Given the description of an element on the screen output the (x, y) to click on. 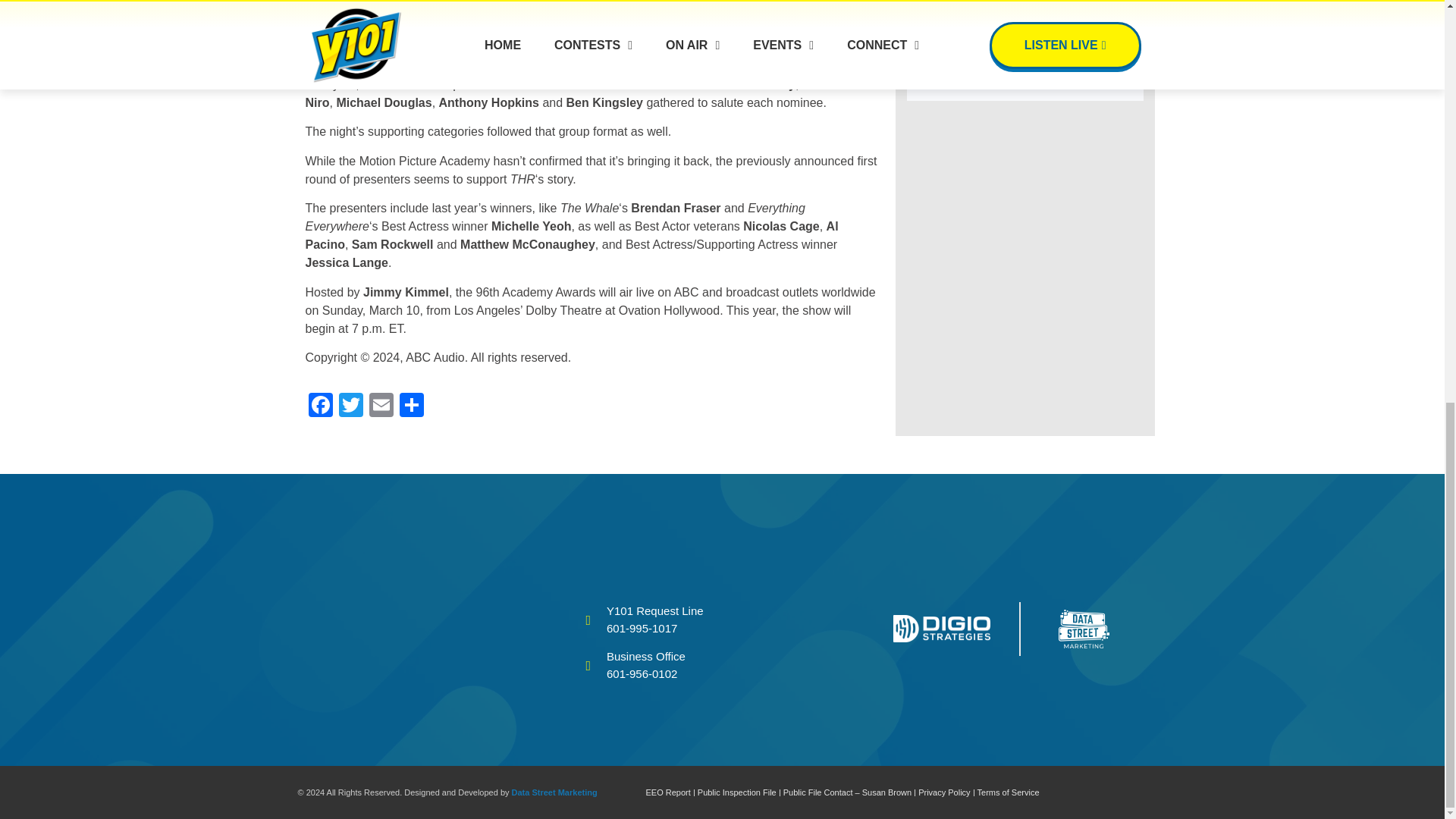
Email (380, 406)
Facebook (319, 406)
Twitter (349, 406)
